Given the description of an element on the screen output the (x, y) to click on. 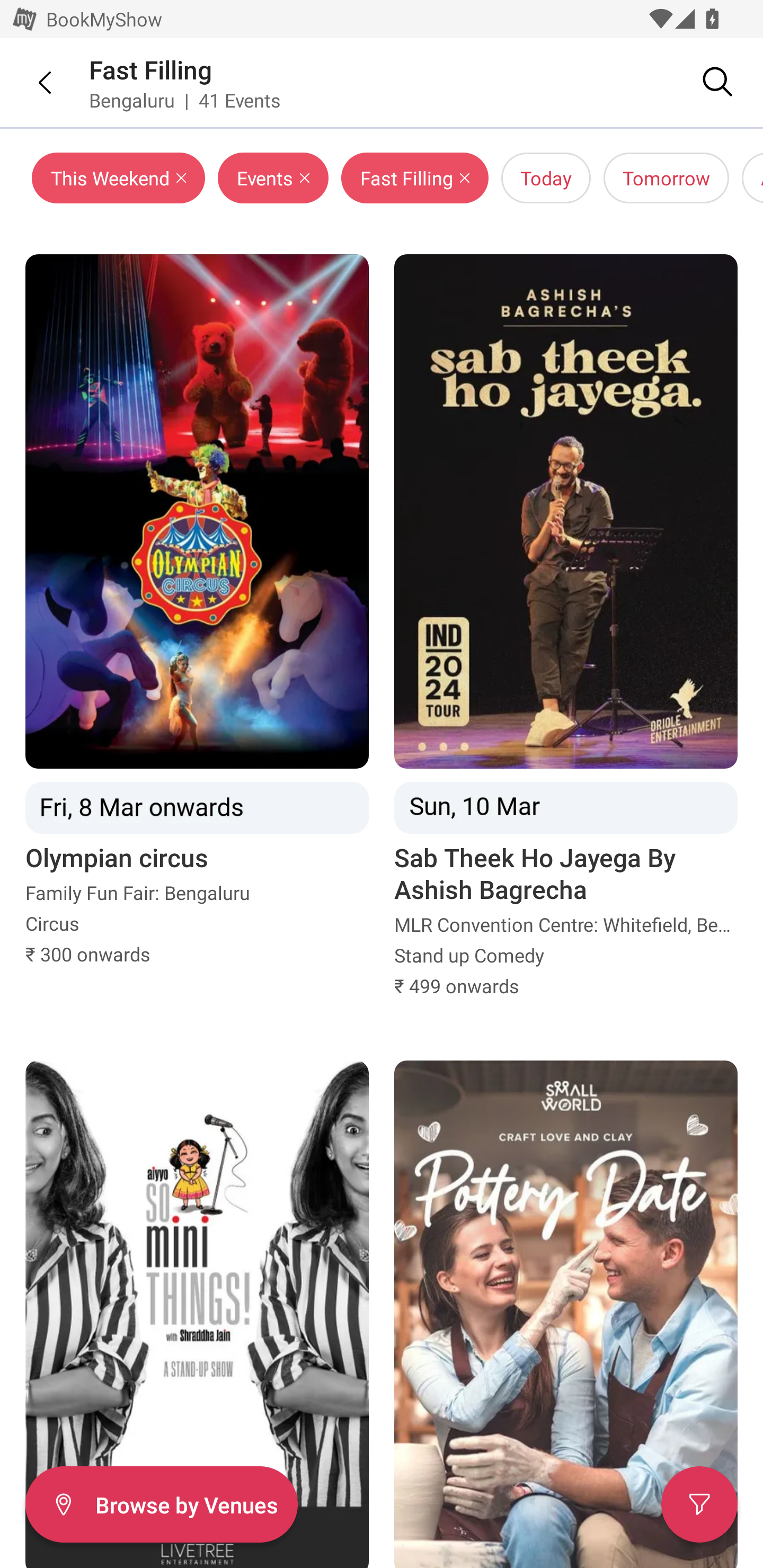
Back (31, 82)
Fast Filling (150, 68)
Bengaluru  |  41 Events (185, 99)
This Weekend Close (118, 177)
Events Close (272, 177)
Fast Filling Close (414, 177)
Today (545, 177)
Tomorrow (666, 177)
Filter Browse by Venues (161, 1504)
Filter (699, 1504)
